Given the description of an element on the screen output the (x, y) to click on. 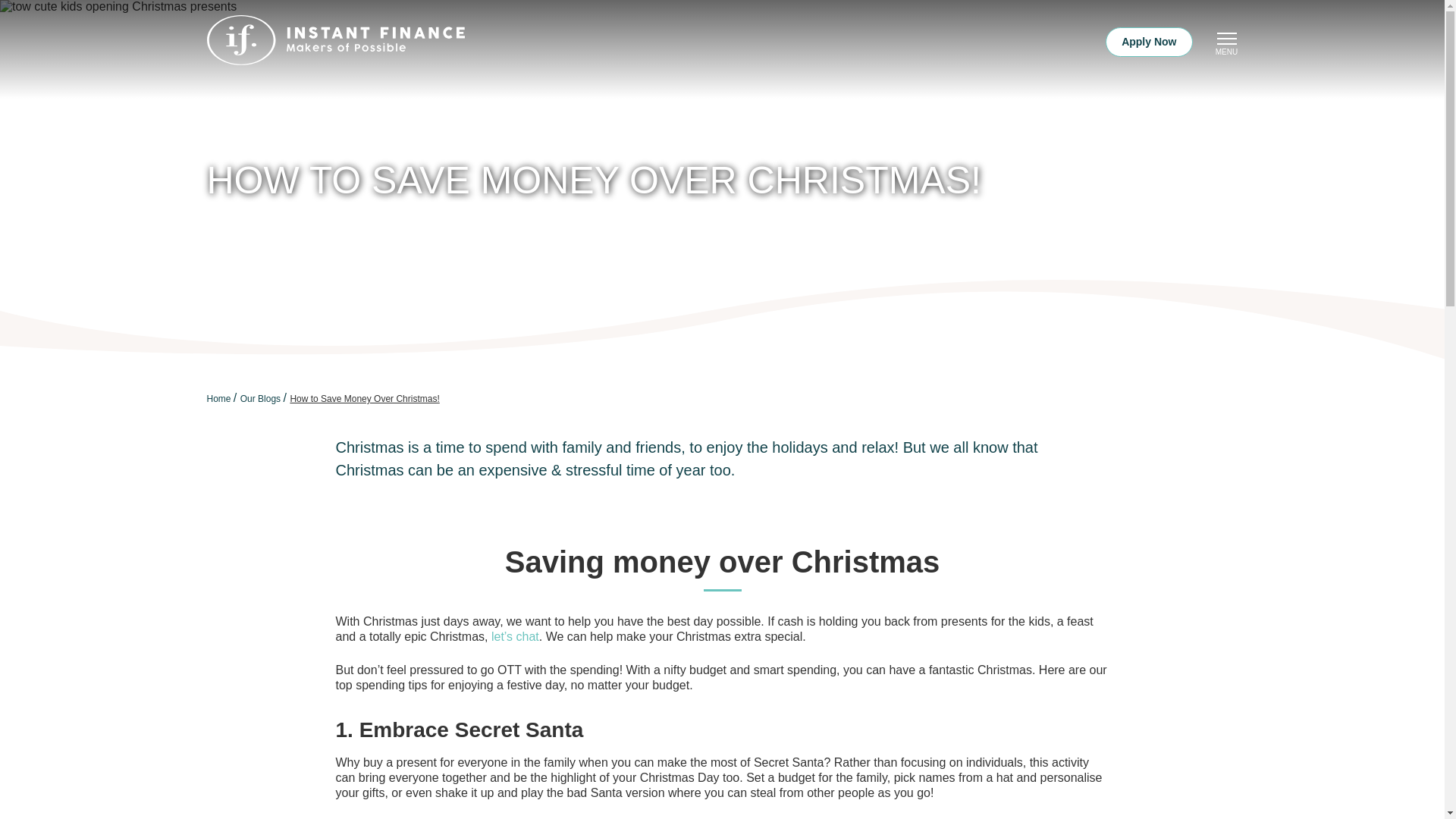
Open menu (1225, 37)
Apply Now (1148, 41)
IF Logo White (335, 41)
